Given the description of an element on the screen output the (x, y) to click on. 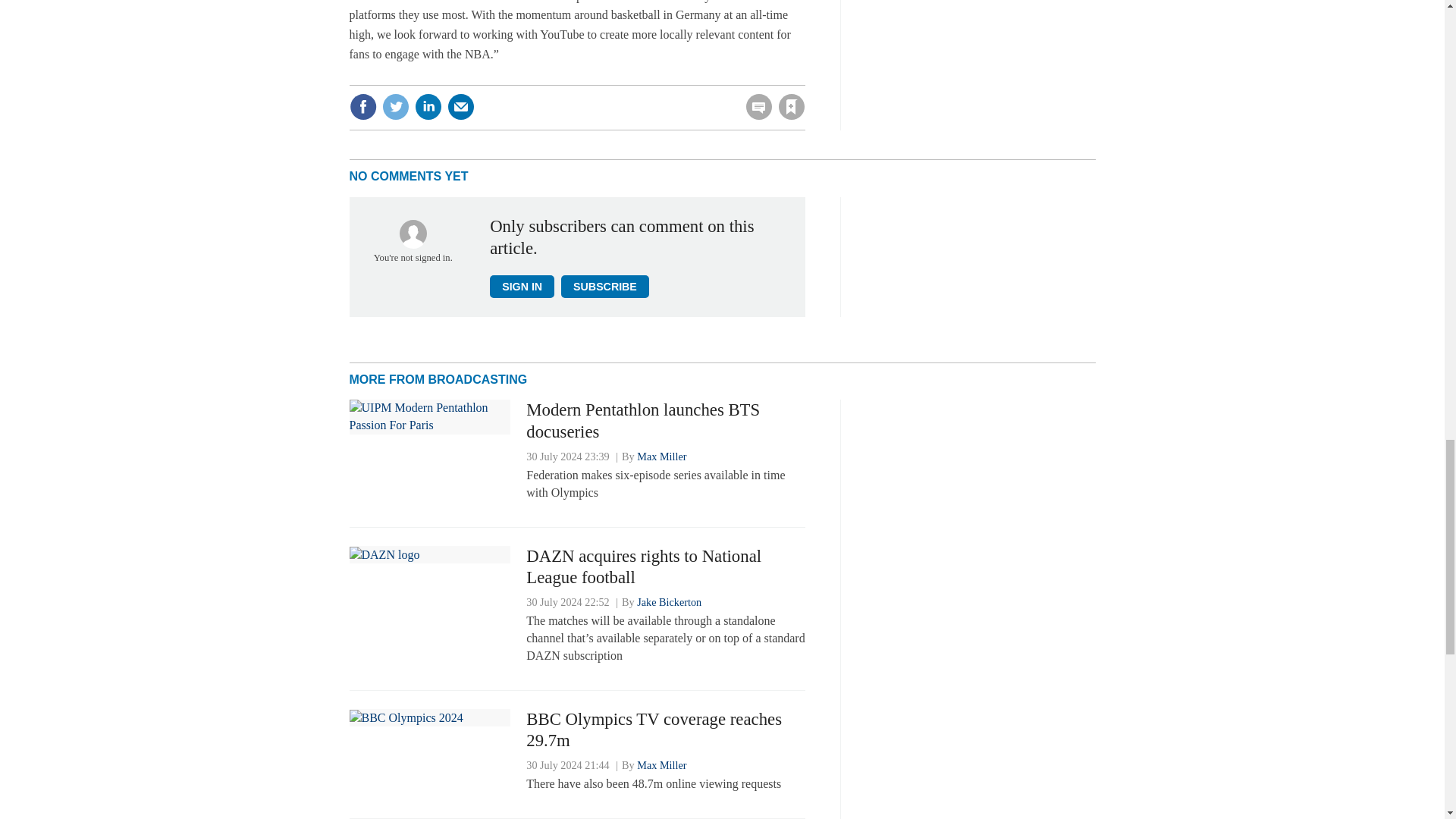
Share this on Twitter (395, 106)
No comments (754, 115)
Email this article (460, 106)
Share this on Facebook (362, 106)
Share this on Linked in (427, 106)
